Given the description of an element on the screen output the (x, y) to click on. 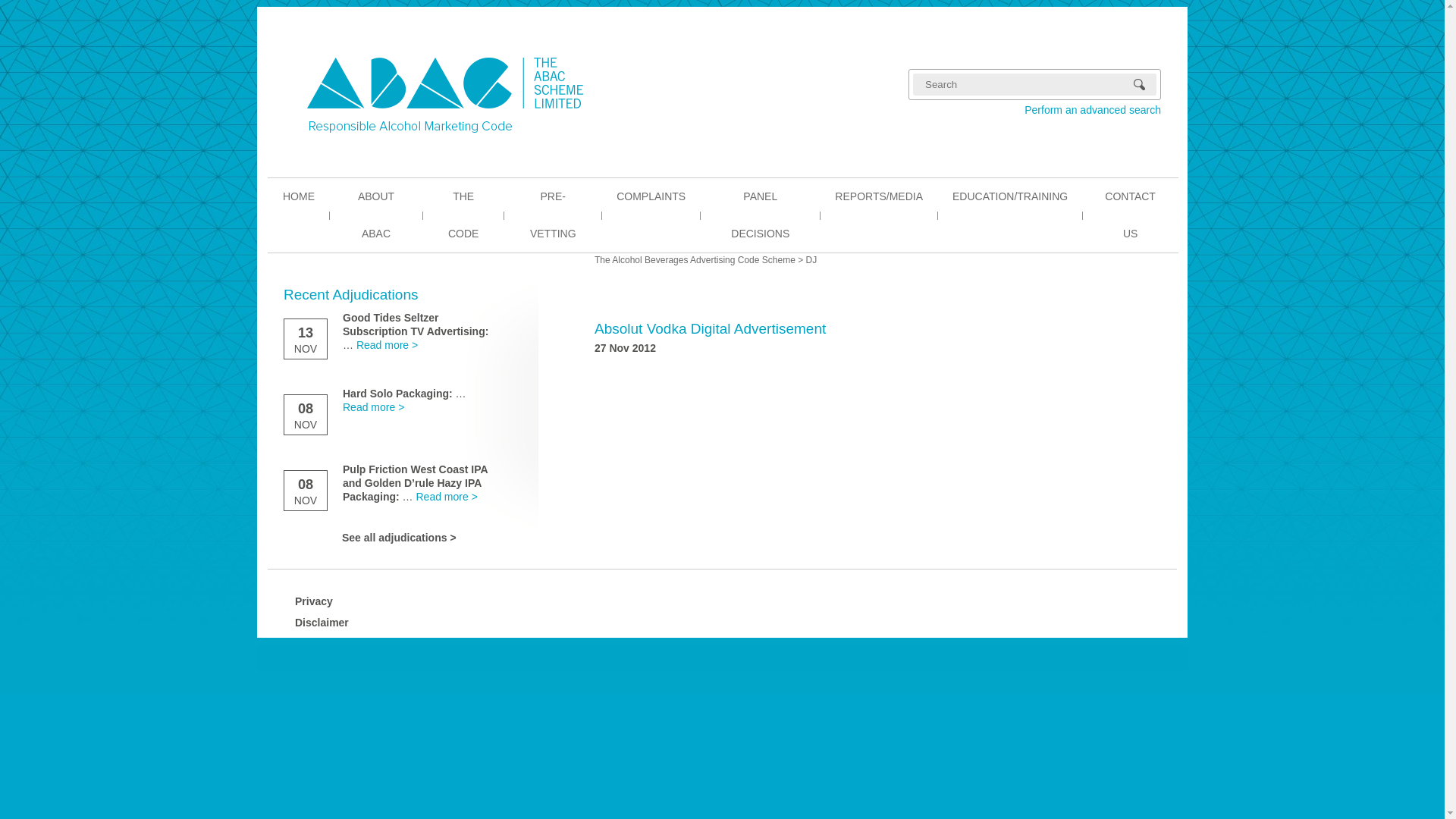
PRE-VETTING Element type: text (552, 215)
REPORTS/MEDIA Element type: text (878, 196)
Read more > Element type: text (445, 496)
Read more > Element type: text (373, 407)
PANEL DECISIONS Element type: text (759, 215)
THE CODE Element type: text (463, 215)
ABOUT ABAC Element type: text (376, 215)
The Alcohol Beverages Advertising Code Scheme Element type: text (694, 259)
Disclaimer Element type: text (321, 622)
Privacy Element type: text (313, 601)
See all adjudications > Element type: text (399, 537)
Absolut Vodka Digital Advertisement Element type: text (709, 328)
HOME Element type: text (298, 196)
Perform an advanced search Element type: text (1034, 109)
COMPLAINTS Element type: text (650, 196)
EDUCATION/TRAINING Element type: text (1009, 196)
CONTACT US Element type: text (1130, 215)
Read more > Element type: text (386, 344)
Search Element type: text (1144, 84)
